Given the description of an element on the screen output the (x, y) to click on. 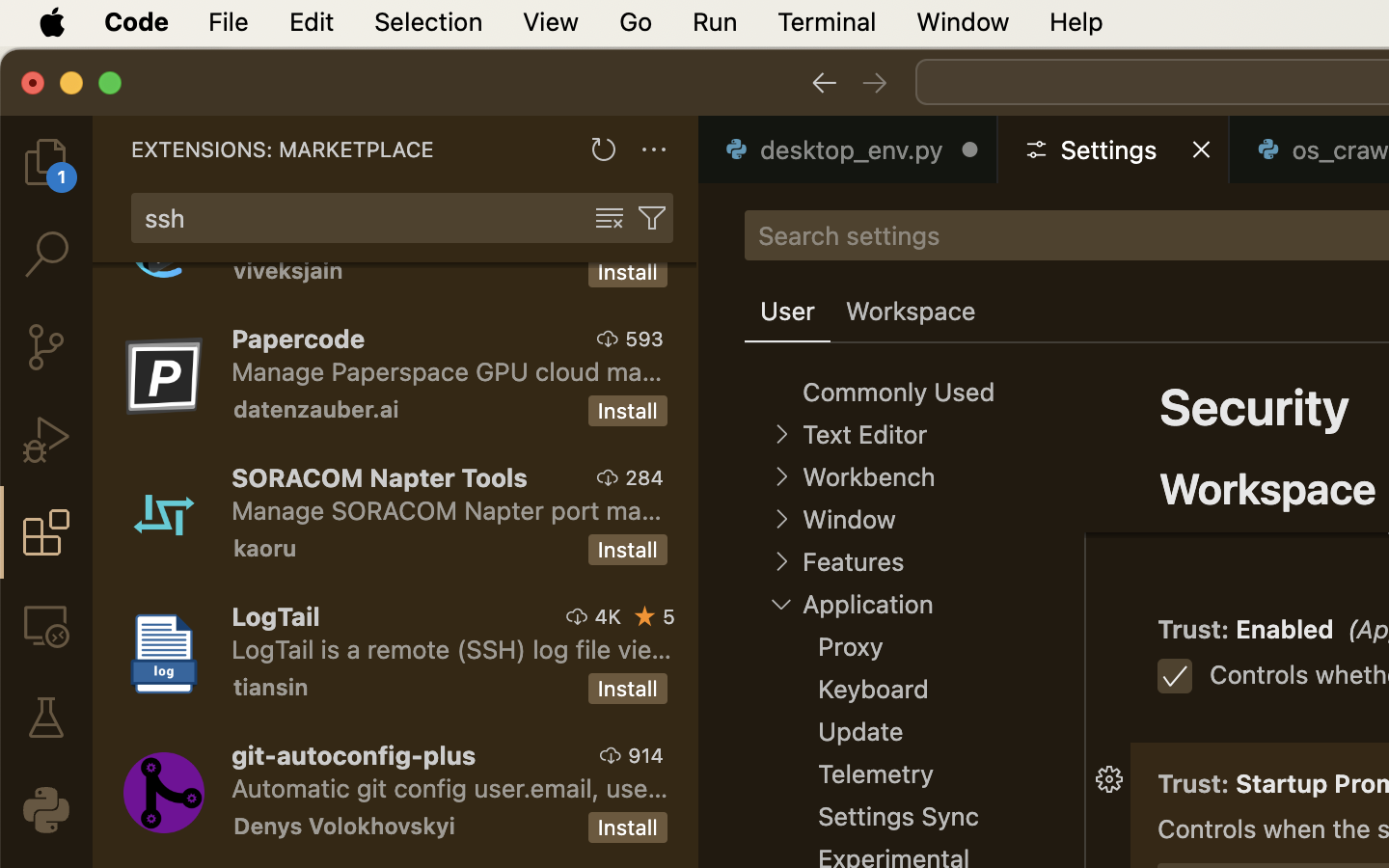
Proxy Element type: AXStaticText (850, 646)
Telemetry Element type: AXStaticText (875, 773)
Security Element type: AXStaticText (1254, 406)
 Element type: AXStaticText (651, 217)
Denys Volokhovskyi Element type: AXStaticText (344, 825)
